Given the description of an element on the screen output the (x, y) to click on. 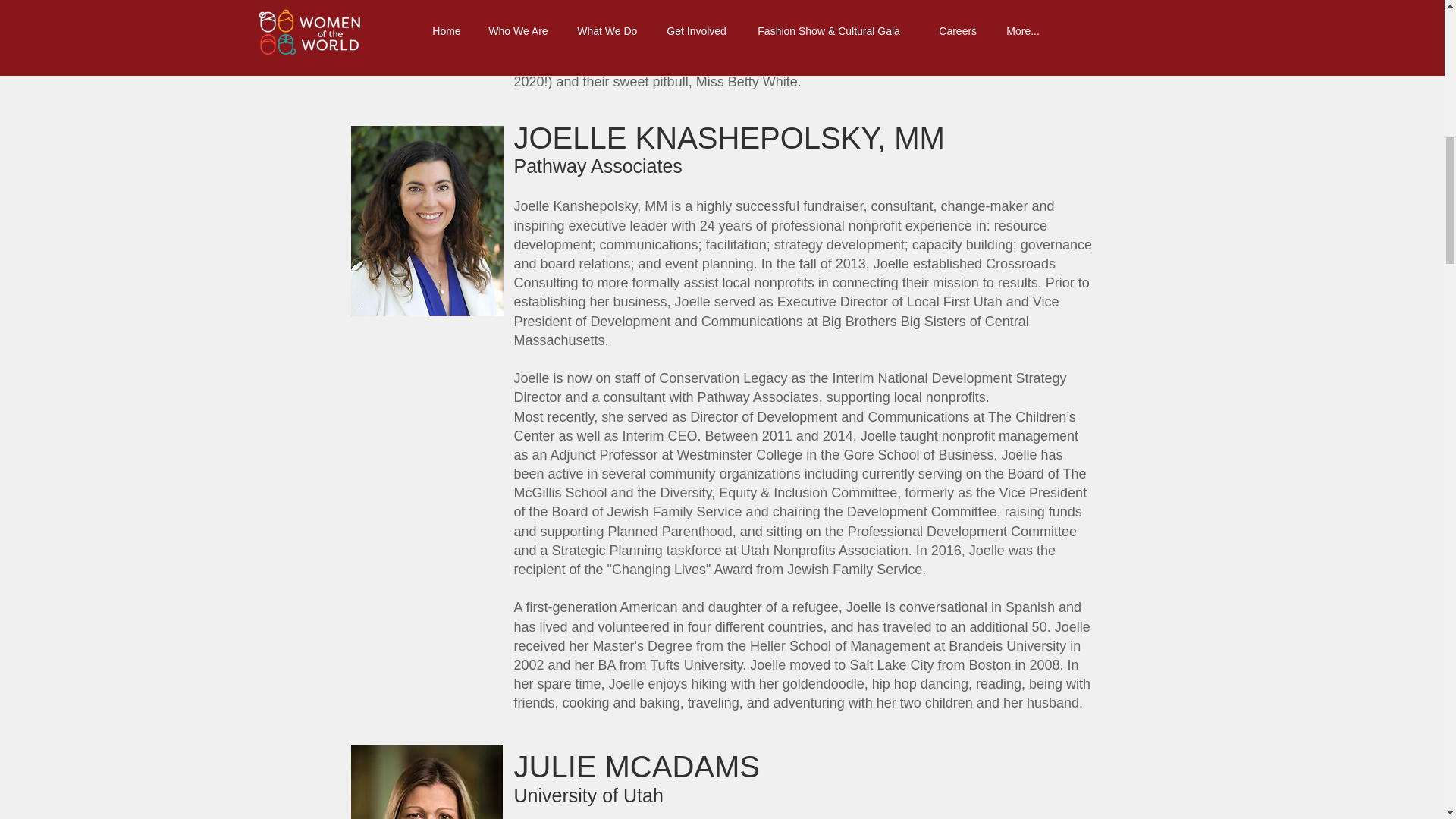
Julie.jpg (426, 781)
